Given the description of an element on the screen output the (x, y) to click on. 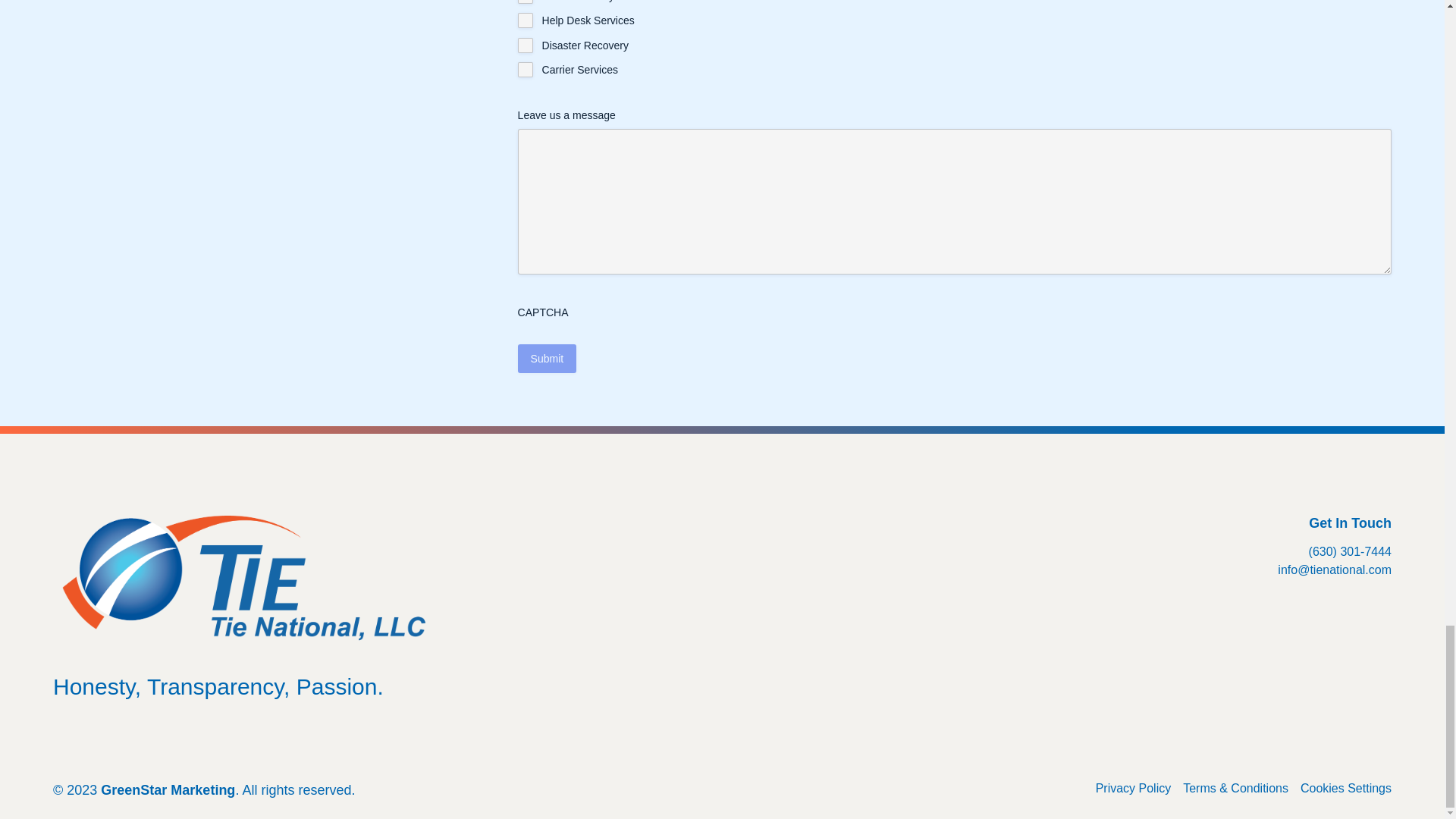
Carrier Services (525, 69)
Submit (547, 358)
Disaster Recovery (525, 45)
Help Desk Services (525, 20)
